Given the description of an element on the screen output the (x, y) to click on. 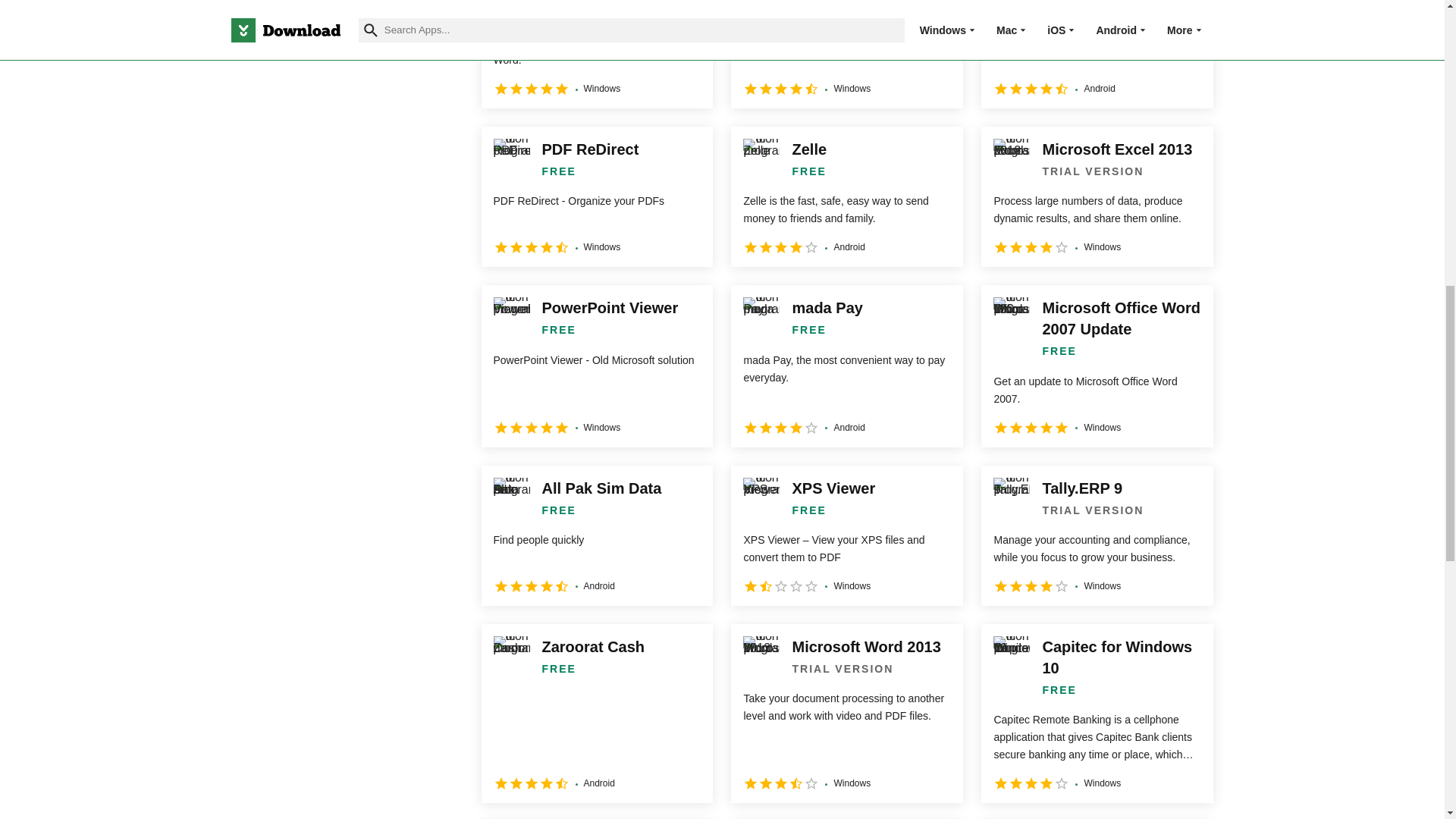
Microsoft Office Word 2007 Update (1096, 365)
Free Barcode Generator (596, 54)
Zelle (846, 196)
PowerPoint Viewer (596, 365)
mada Pay (846, 365)
All Pak Sim Data (596, 536)
Microsoft Office 2003 Service Pack (846, 54)
Zaroorat Cash (596, 713)
Tally.ERP 9 (1096, 536)
XPS Viewer (846, 536)
